Given the description of an element on the screen output the (x, y) to click on. 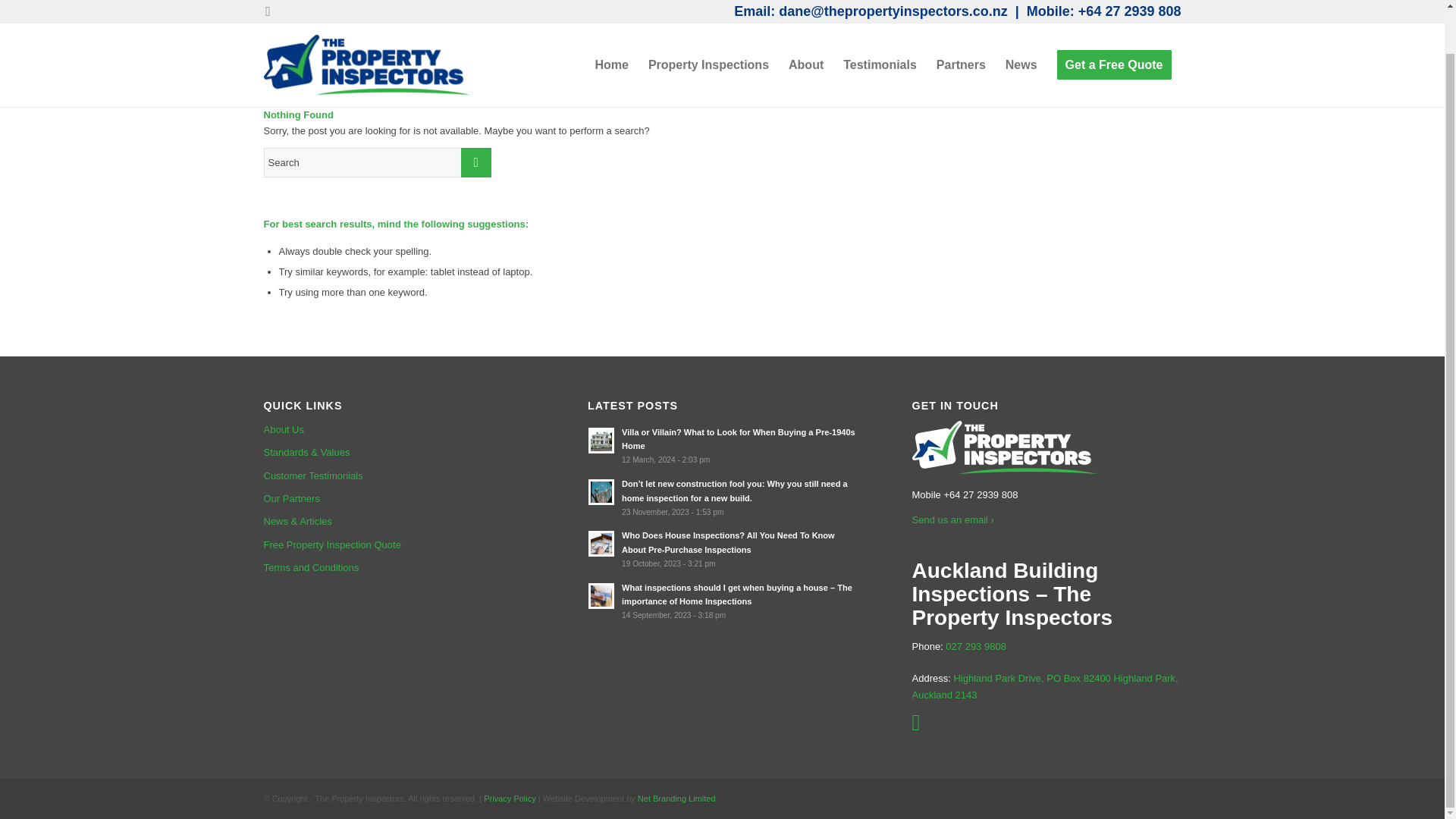
Testimonials (879, 30)
Net Branding Limited (676, 798)
Get a Free Quote (1113, 30)
Customer Testimonials (397, 476)
Privacy Policy (509, 798)
Our Partners (397, 498)
About Us (397, 429)
Free Property Inspection Quote (397, 544)
About (805, 30)
027 293 9808 (975, 645)
Property Inspections (708, 30)
